Given the description of an element on the screen output the (x, y) to click on. 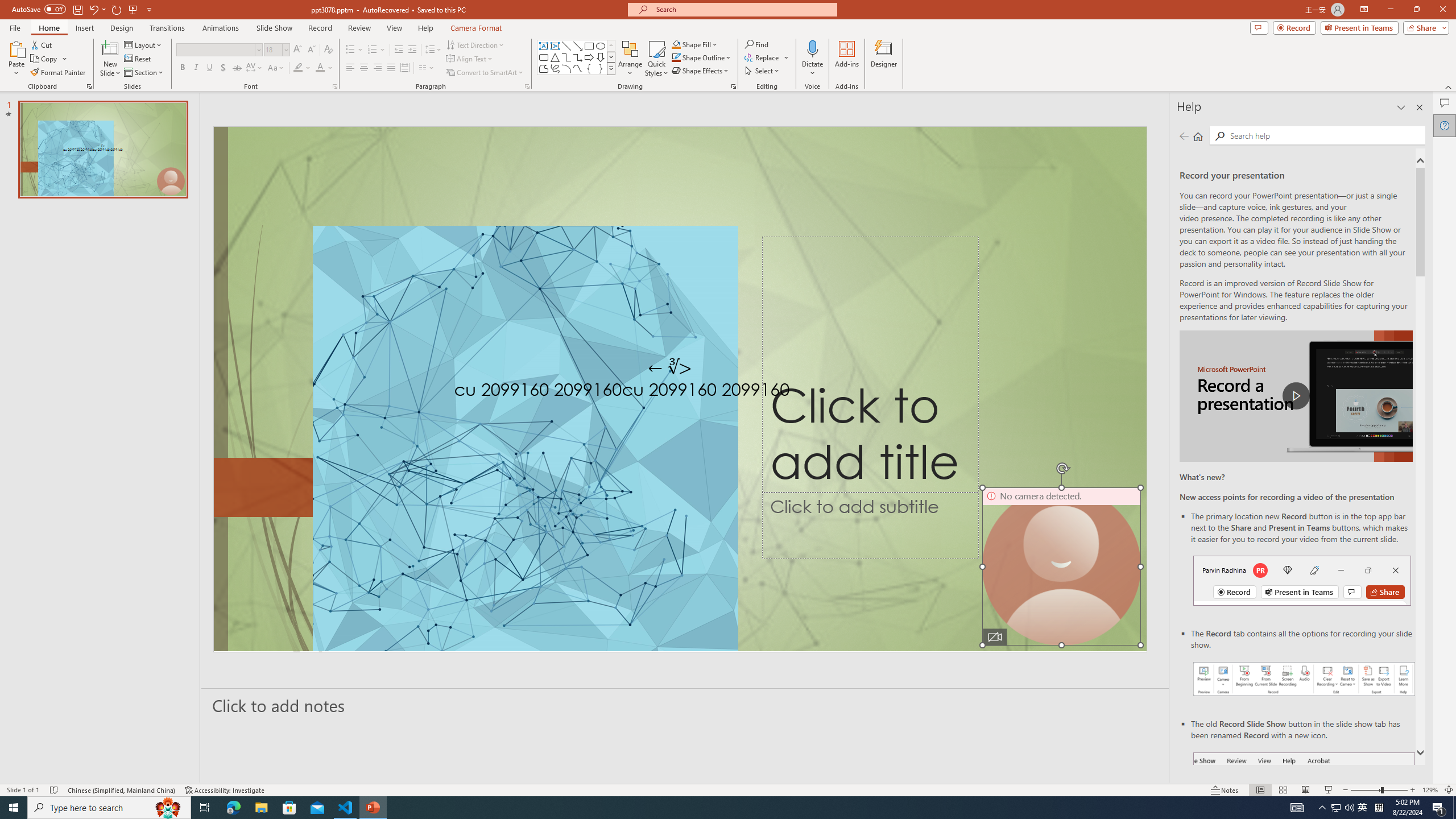
Designer (883, 58)
Justify (390, 67)
Strikethrough (237, 67)
Quick Access Toolbar (82, 9)
Zoom In (1412, 790)
Shape Outline (701, 56)
Arrow: Right (589, 57)
Decrease Indent (398, 49)
Cut (42, 44)
Open (285, 49)
Zoom Out (1365, 790)
Replace... (767, 56)
